Given the description of an element on the screen output the (x, y) to click on. 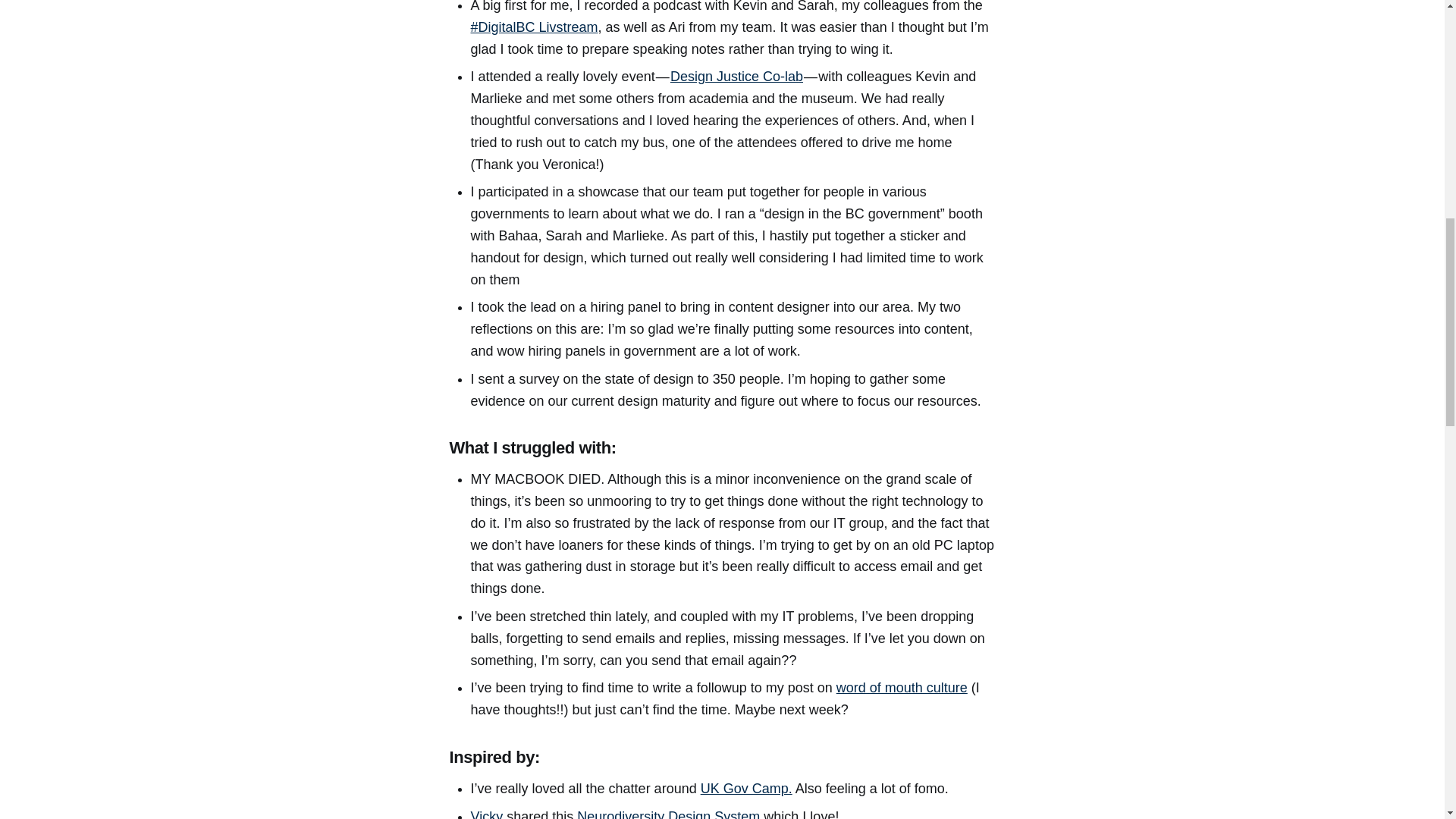
Vicky (488, 814)
Design Justice Co-lab (736, 76)
Neurodiversity Design System (669, 814)
UK Gov Camp. (746, 788)
word of mouth culture (901, 687)
